Given the description of an element on the screen output the (x, y) to click on. 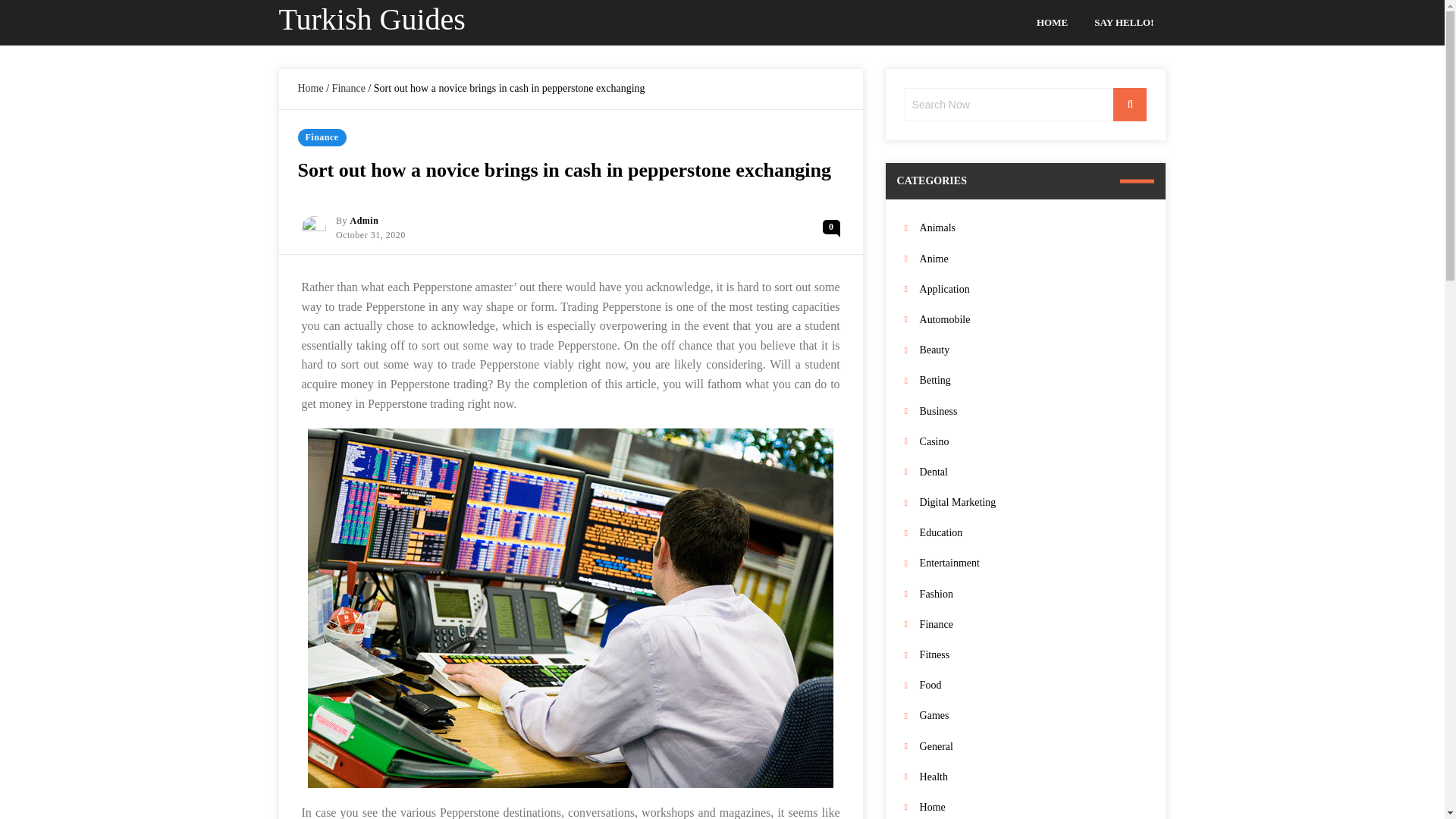
Home (310, 88)
Search (1130, 104)
Posts by admin (364, 220)
Animals (1033, 227)
Turkish Guides (372, 19)
Anime (1033, 258)
Admin (364, 220)
SAY HELLO! (1123, 22)
0 (831, 227)
View all posts in Finance (321, 137)
October 31, 2020 (371, 235)
Finance (321, 137)
Application (1033, 289)
Finance (348, 88)
